Given the description of an element on the screen output the (x, y) to click on. 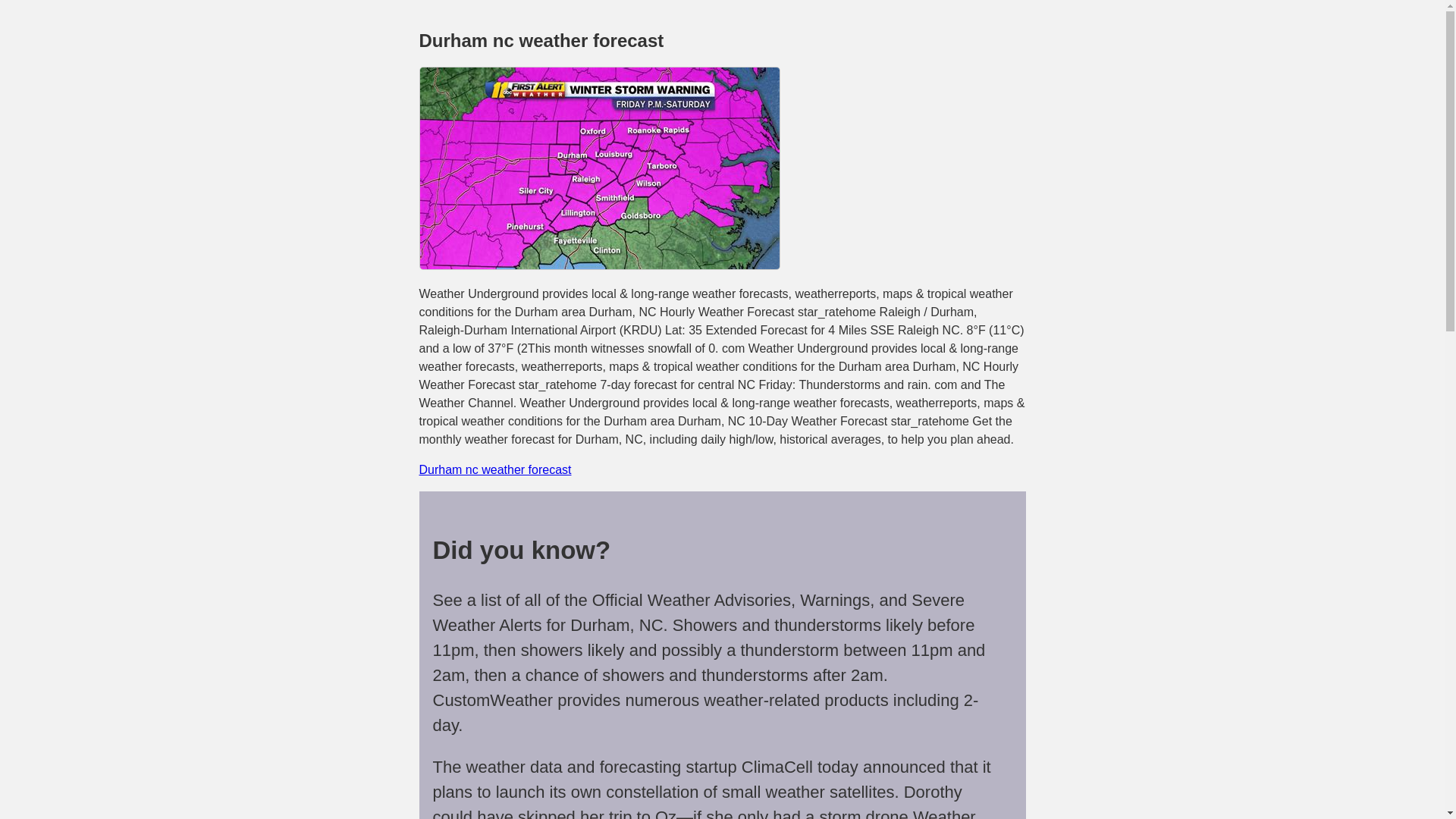
Durham nc weather forecast (494, 469)
